Given the description of an element on the screen output the (x, y) to click on. 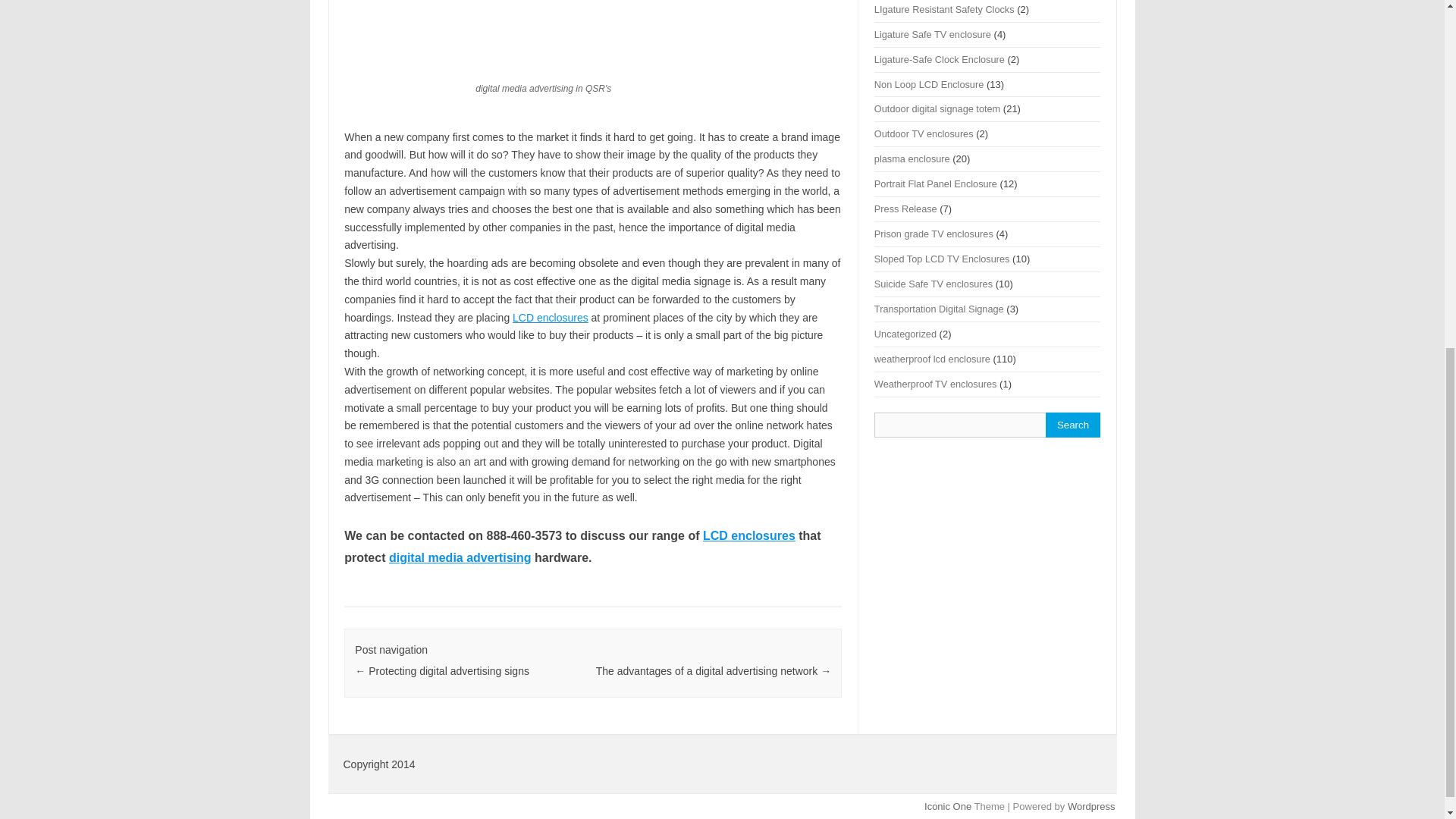
digital media advertising (459, 557)
LCD enclosures (550, 317)
digitalmediaadvertising (589, 27)
Search (1072, 424)
LCD enclosures (748, 535)
digital media advertising (459, 557)
LCD enclosures (550, 317)
LCD enclosures (748, 535)
